Given the description of an element on the screen output the (x, y) to click on. 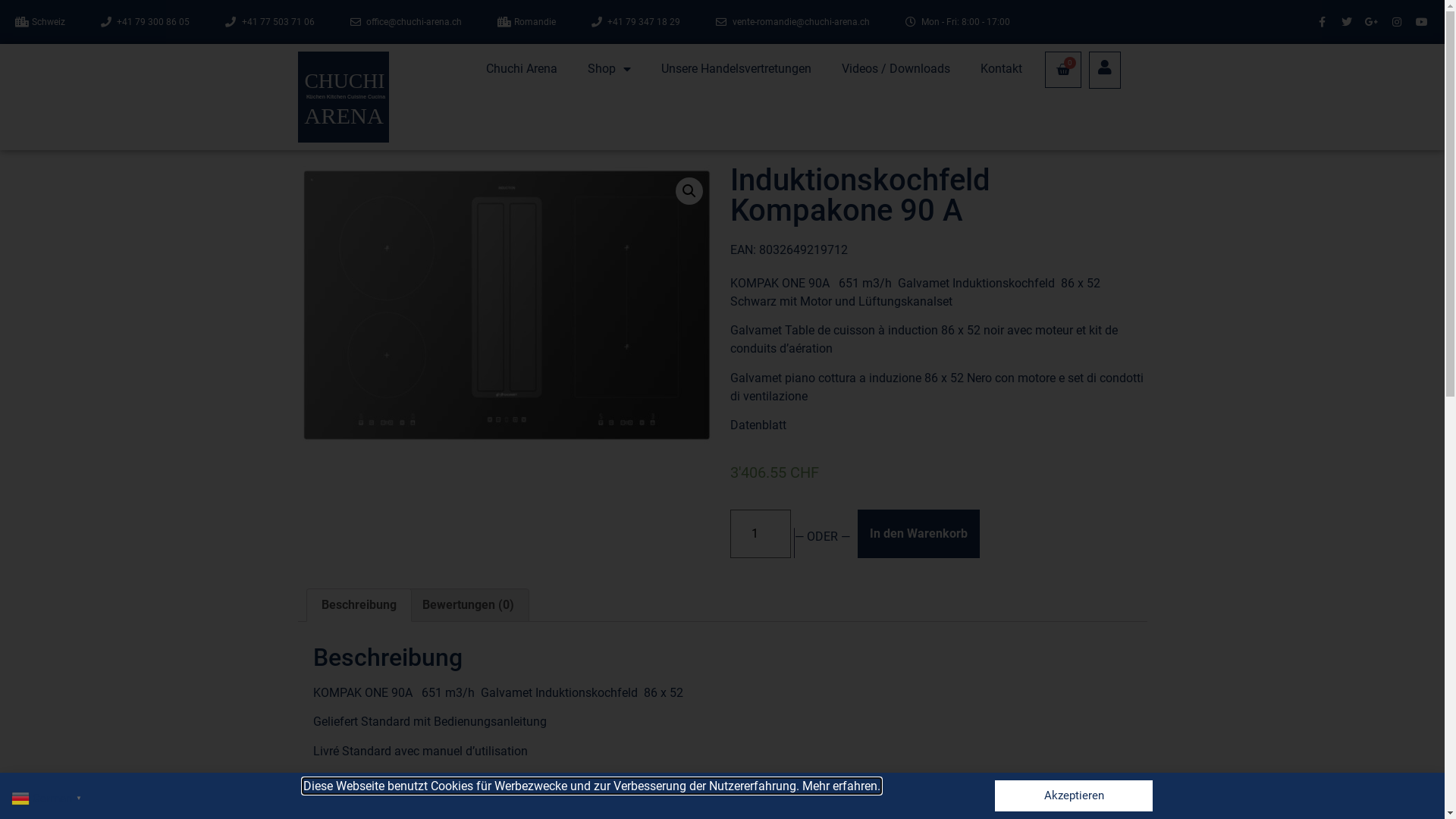
Akzeptieren Element type: text (1073, 795)
0 Element type: text (1061, 69)
In den Warenkorb Element type: text (917, 533)
Beschreibung Element type: text (358, 605)
Datenblatt Element type: text (340, 809)
+41 77 503 71 06 Element type: text (269, 21)
Bewertungen (0) Element type: text (467, 605)
Videos / Downloads Element type: text (895, 68)
Menge Element type: hover (759, 533)
+41 79 300 86 05 Element type: text (144, 21)
office@chuchi-arena.ch Element type: text (406, 21)
Chuchi Arena Element type: text (520, 68)
vente-romandie@chuchi-arena.ch Element type: text (792, 21)
Datenblatt Element type: text (757, 424)
Kontakt Element type: text (1000, 68)
Shop Element type: text (608, 68)
Unsere Handelsvertretungen Element type: text (736, 68)
+41 79 347 18 29 Element type: text (635, 21)
Kompak One Element type: hover (505, 304)
